Given the description of an element on the screen output the (x, y) to click on. 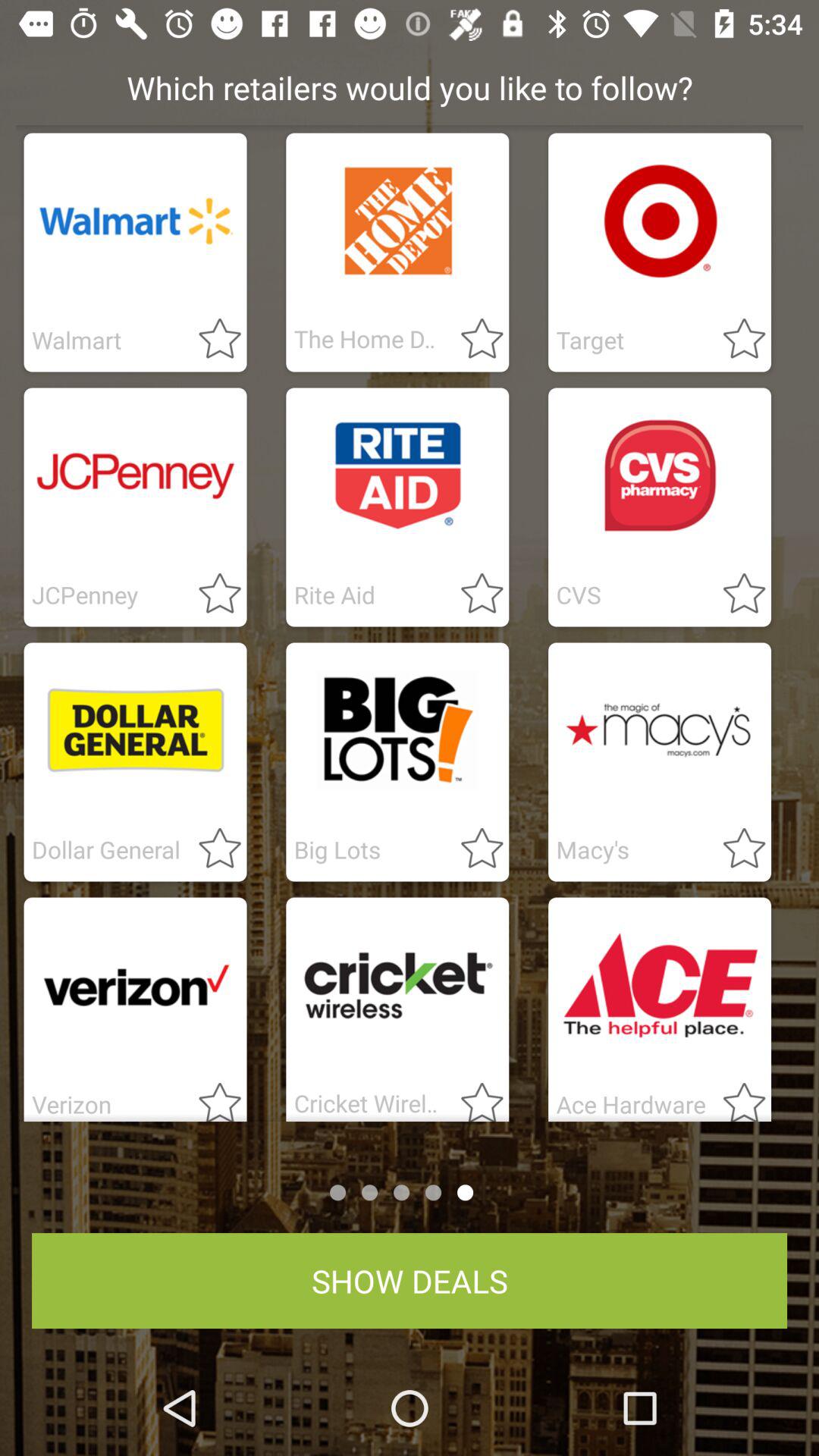
switch star option (210, 849)
